Given the description of an element on the screen output the (x, y) to click on. 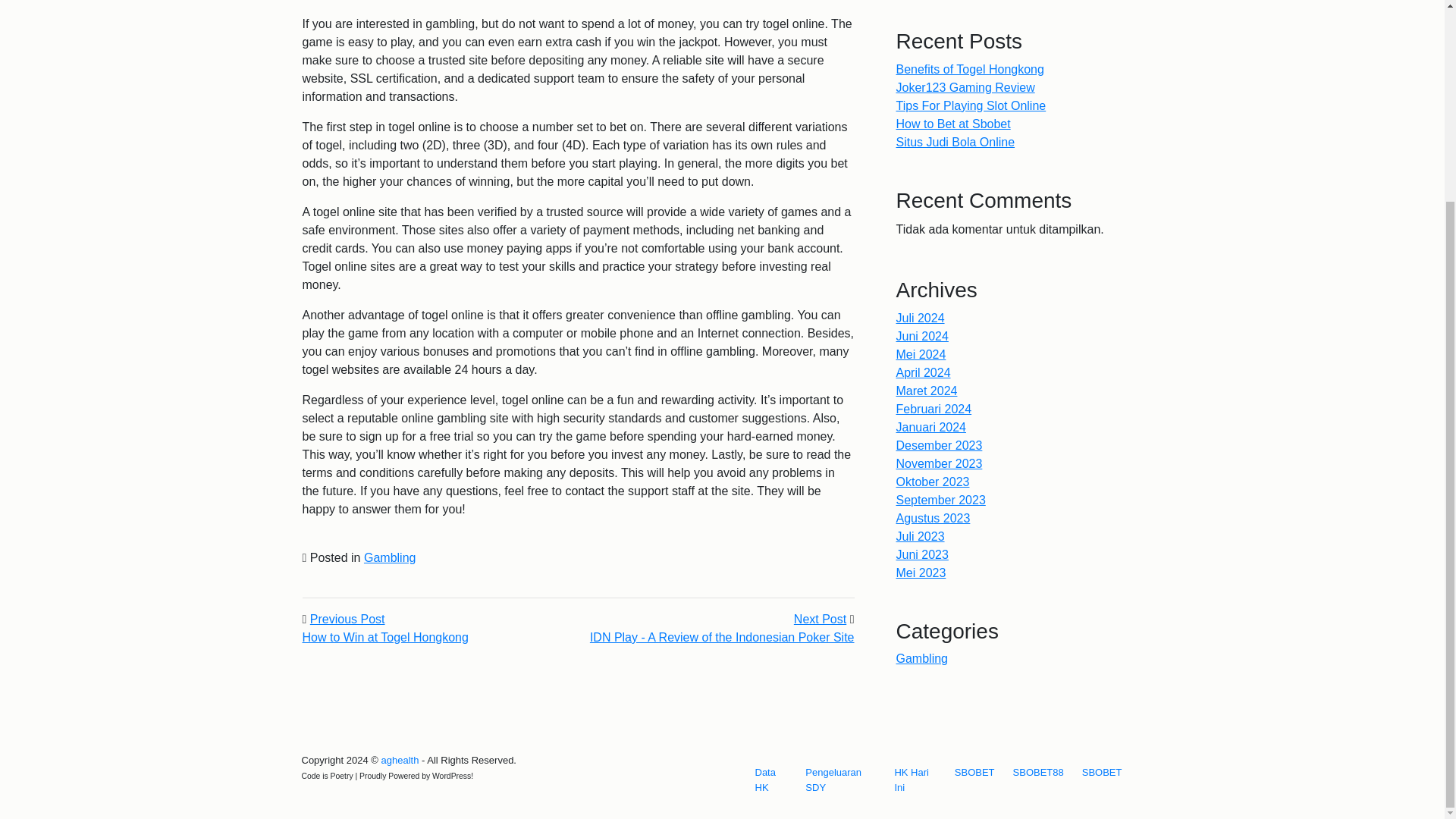
Benefits of Togel Hongkong (969, 69)
Gambling (389, 557)
IDN Play - A Review of the Indonesian Poker Site (721, 636)
aghealth (399, 759)
Januari 2024 (931, 427)
How to Win at Togel Hongkong (384, 636)
SBOBET (975, 772)
Mei 2023 (921, 572)
Data HK (771, 779)
Agustus 2023 (933, 517)
Data HK (771, 779)
Juni 2024 (922, 336)
SBOBET (1101, 772)
How to Bet at Sbobet (953, 123)
Joker123 Gaming Review (965, 87)
